Given the description of an element on the screen output the (x, y) to click on. 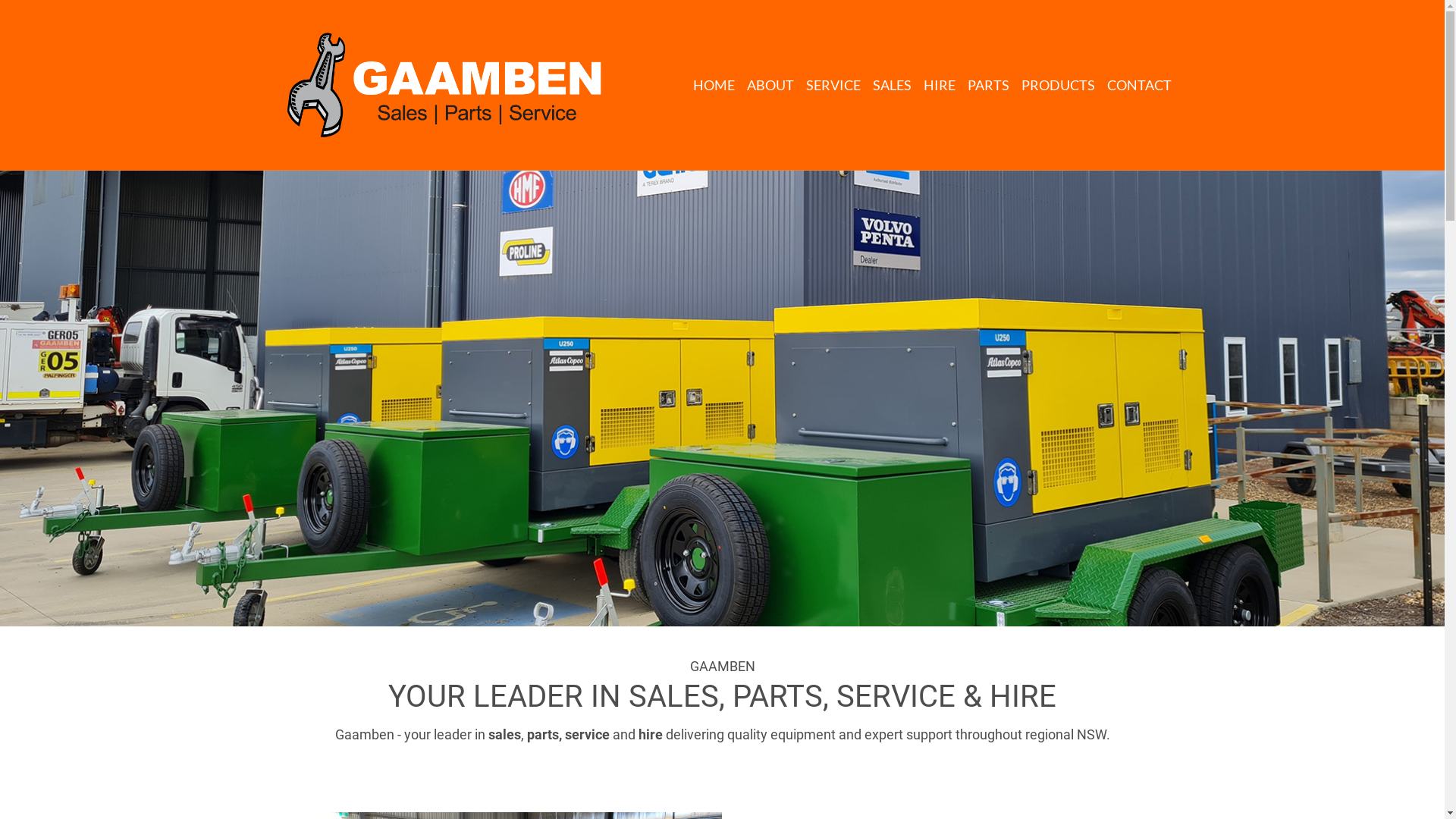
HIRE Element type: text (939, 85)
PARTS Element type: text (988, 85)
HOME Element type: text (713, 85)
CONTACT Element type: text (1139, 85)
SALES Element type: text (891, 85)
PRODUCTS Element type: text (1057, 85)
ABOUT Element type: text (769, 85)
SERVICE Element type: text (832, 85)
